Given the description of an element on the screen output the (x, y) to click on. 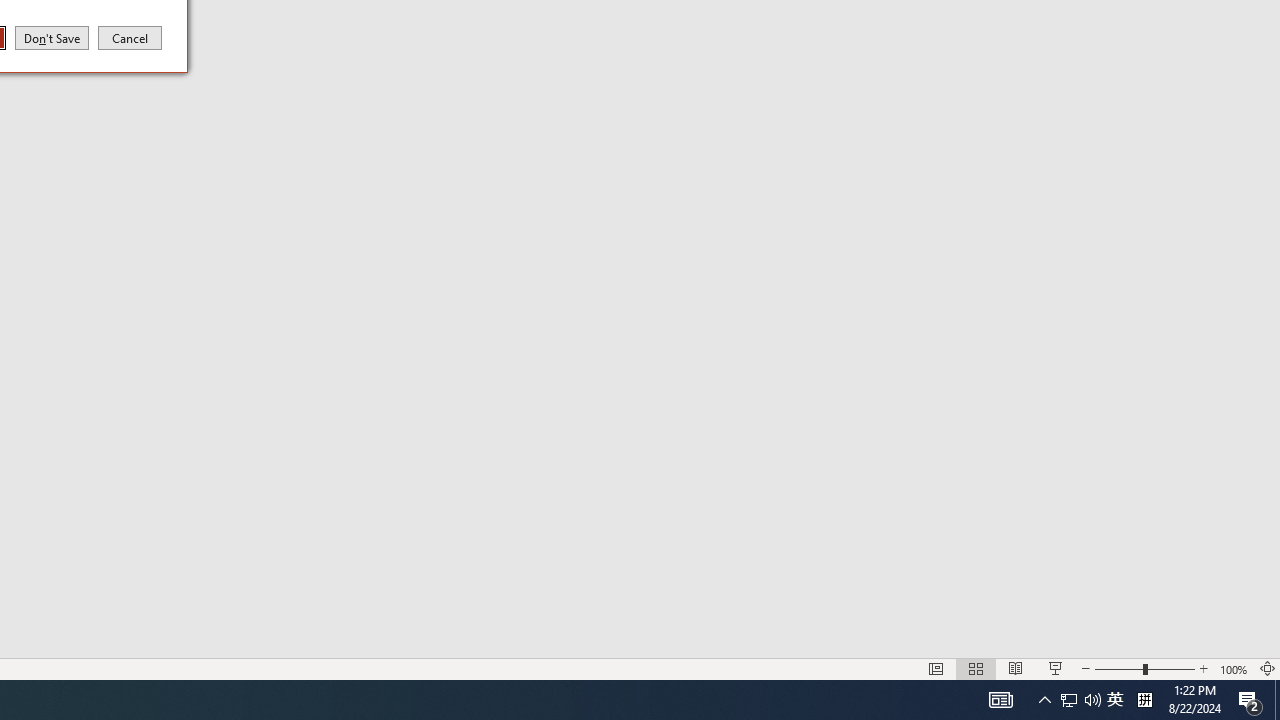
Action Center, 2 new notifications (1250, 699)
Zoom 100% (1234, 668)
Don't Save (52, 37)
